Given the description of an element on the screen output the (x, y) to click on. 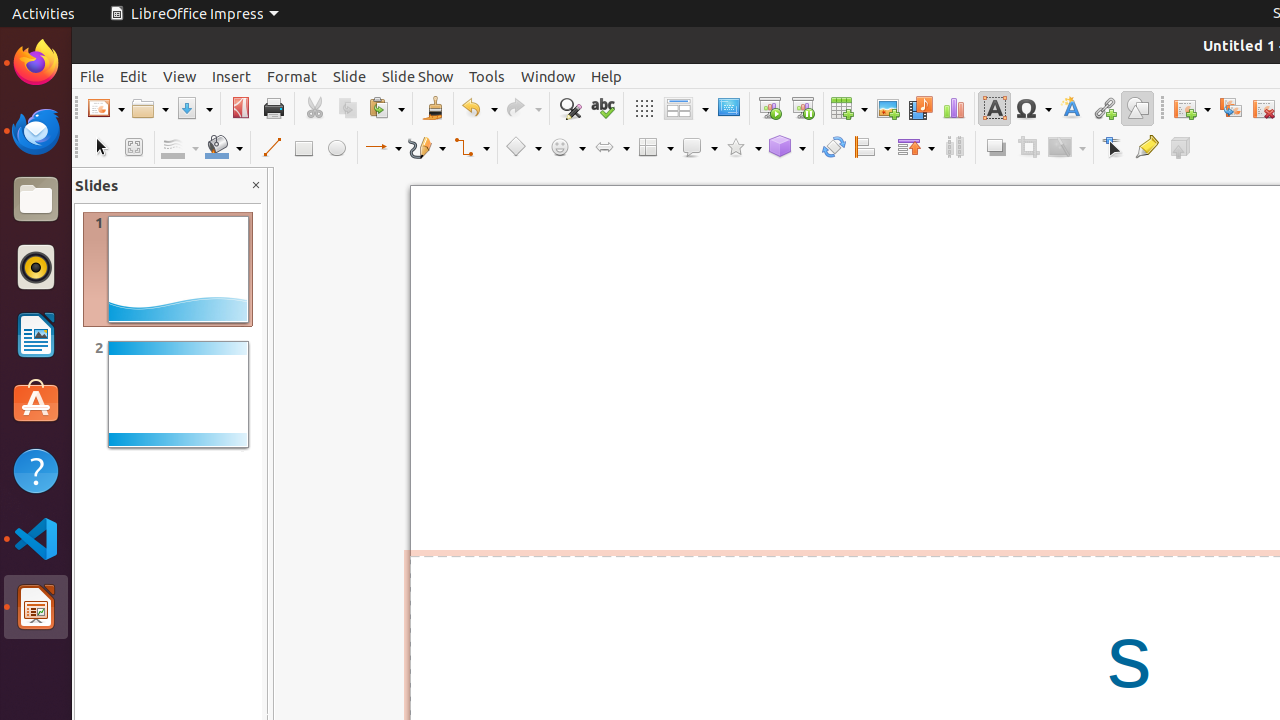
Print Element type: push-button (273, 108)
Start from Current Slide Element type: push-button (802, 108)
3D Objects Element type: push-button (787, 147)
Start from First Slide Element type: push-button (769, 108)
Display Views Element type: push-button (686, 109)
